Given the description of an element on the screen output the (x, y) to click on. 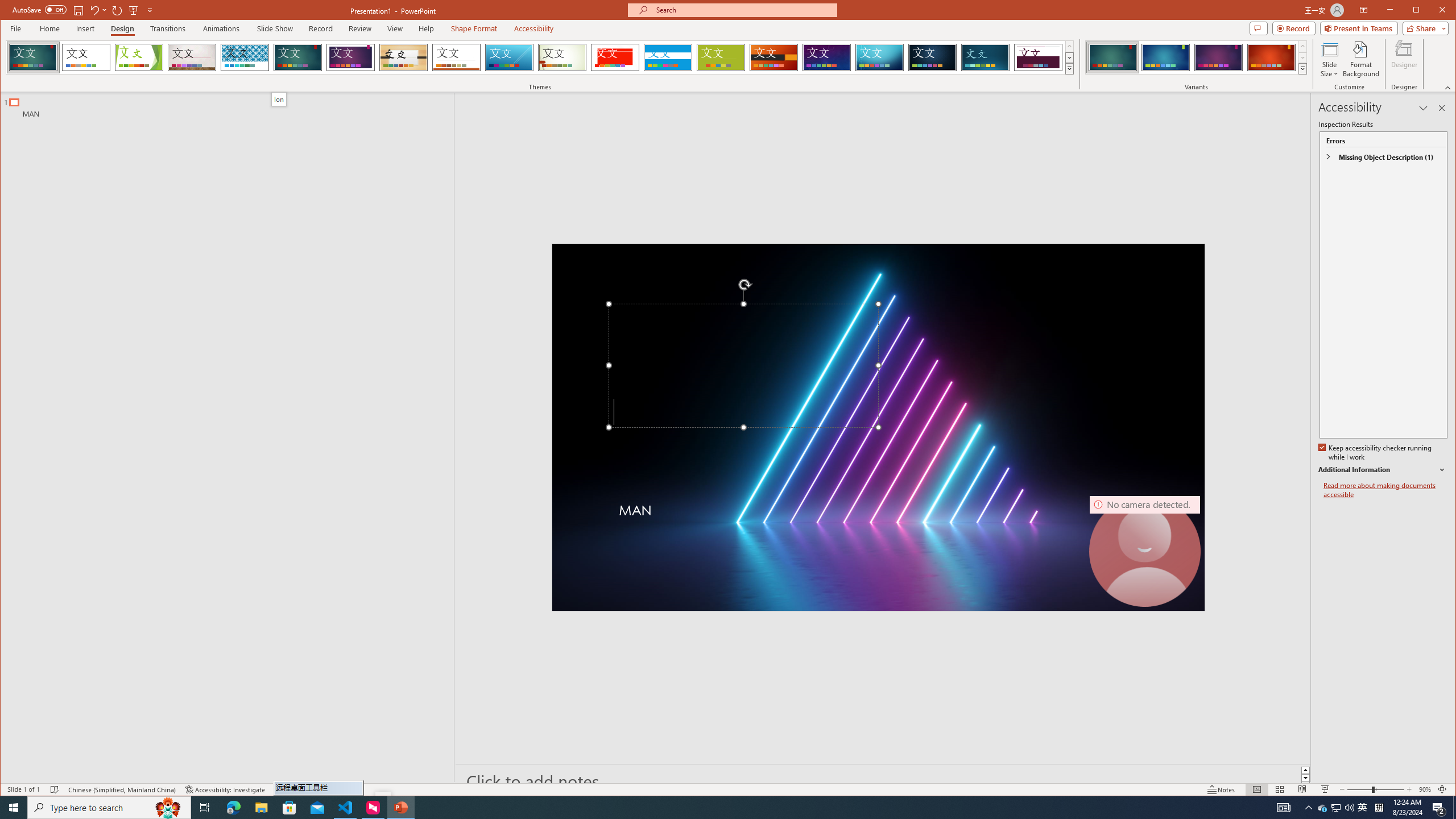
Save (77, 9)
Ion (278, 98)
PowerPoint - 1 running window (400, 807)
Class: NetUIImage (1302, 68)
AutomationID: ThemeVariantsGallery (1196, 57)
Banded (668, 57)
Accessibility Checker Accessibility: Investigate (225, 789)
Customize Quick Access Toolbar (150, 9)
Basis (720, 57)
Variants (1302, 68)
Slide Size (1328, 59)
Themes (1069, 68)
File Tab (15, 27)
File Explorer (261, 807)
